Given the description of an element on the screen output the (x, y) to click on. 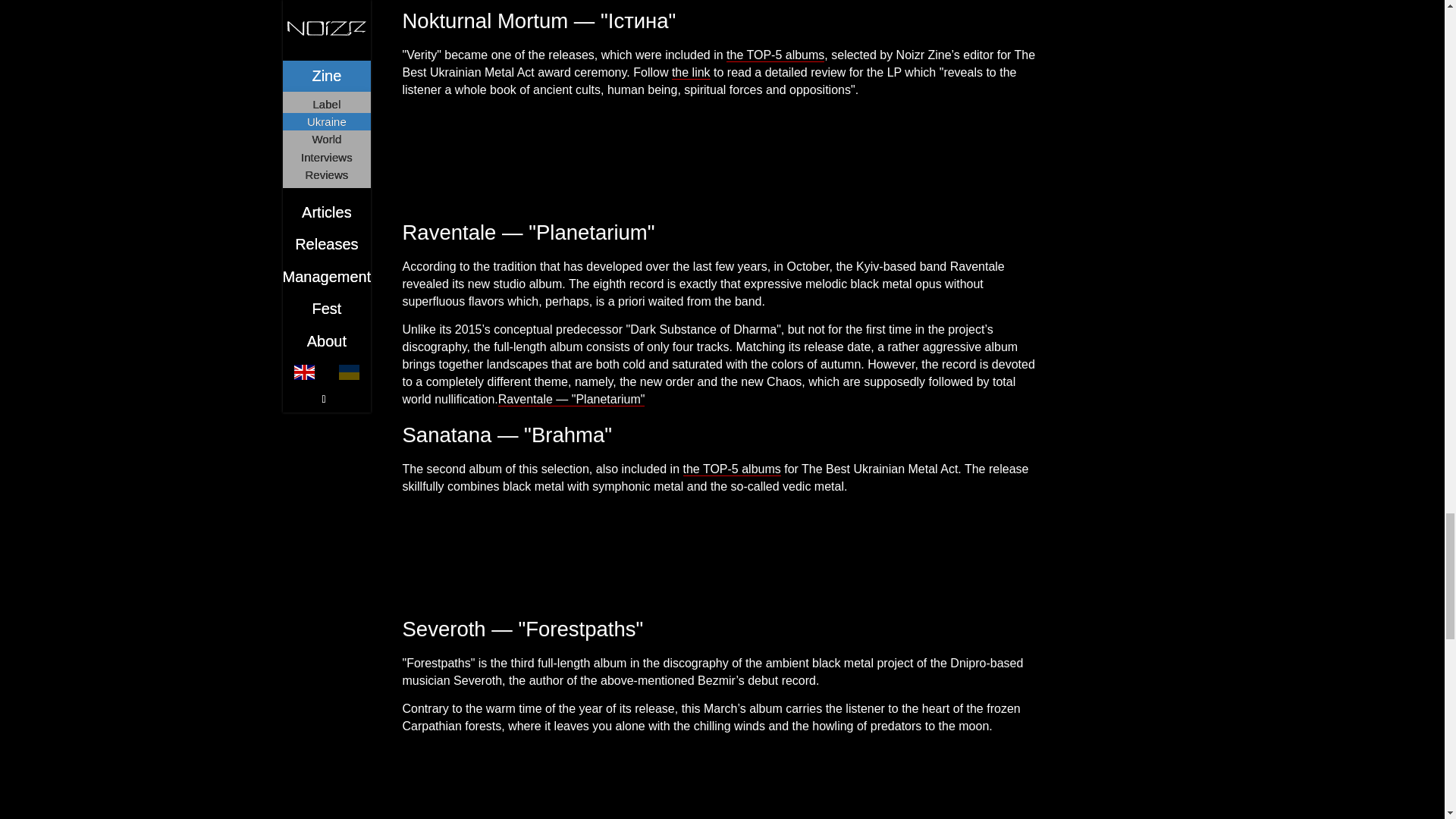
the TOP-5 albums (775, 55)
the link (690, 72)
the TOP-5 albums (731, 468)
